Given the description of an element on the screen output the (x, y) to click on. 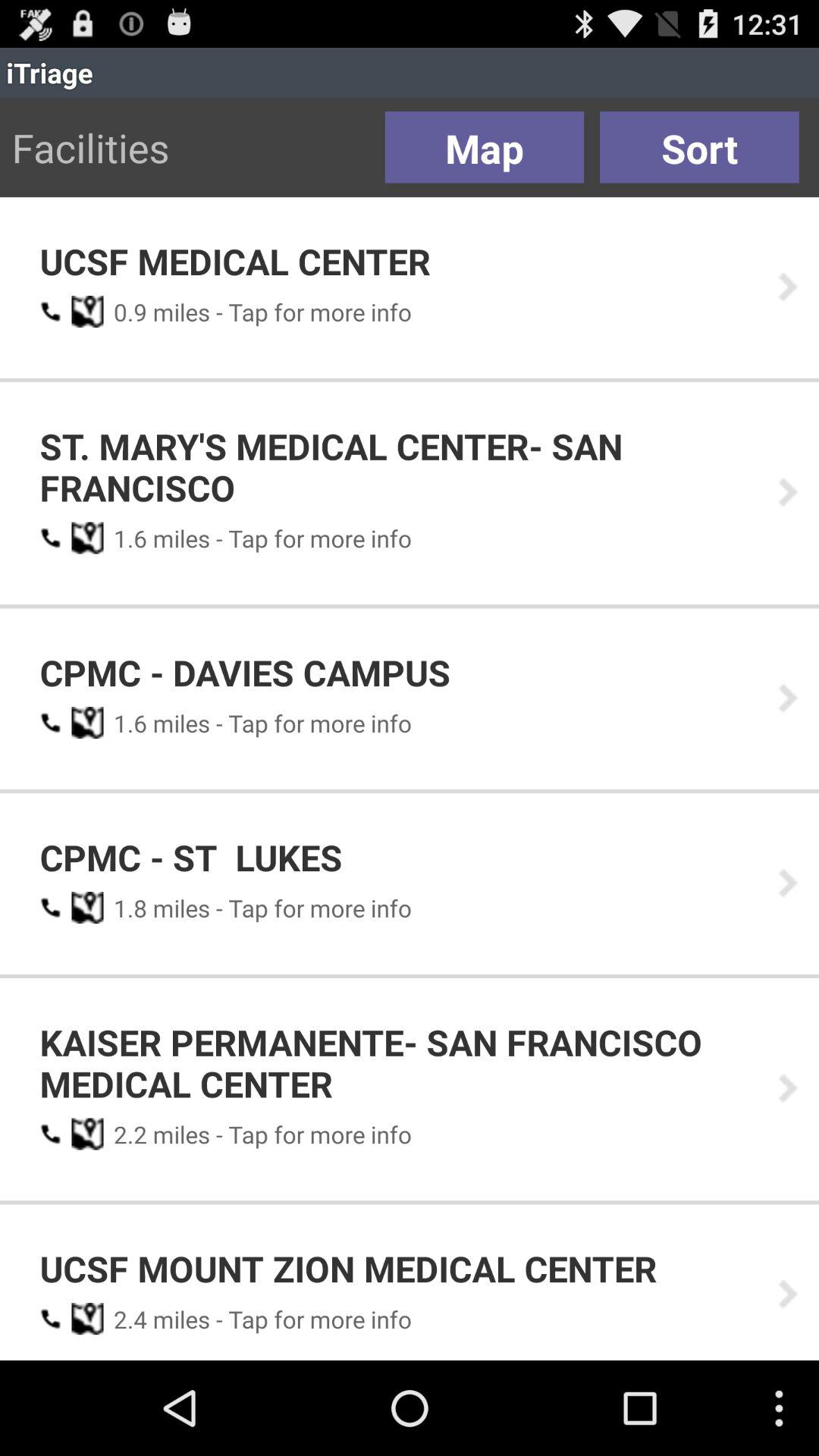
turn off item below the 0.9 icon (398, 466)
